Given the description of an element on the screen output the (x, y) to click on. 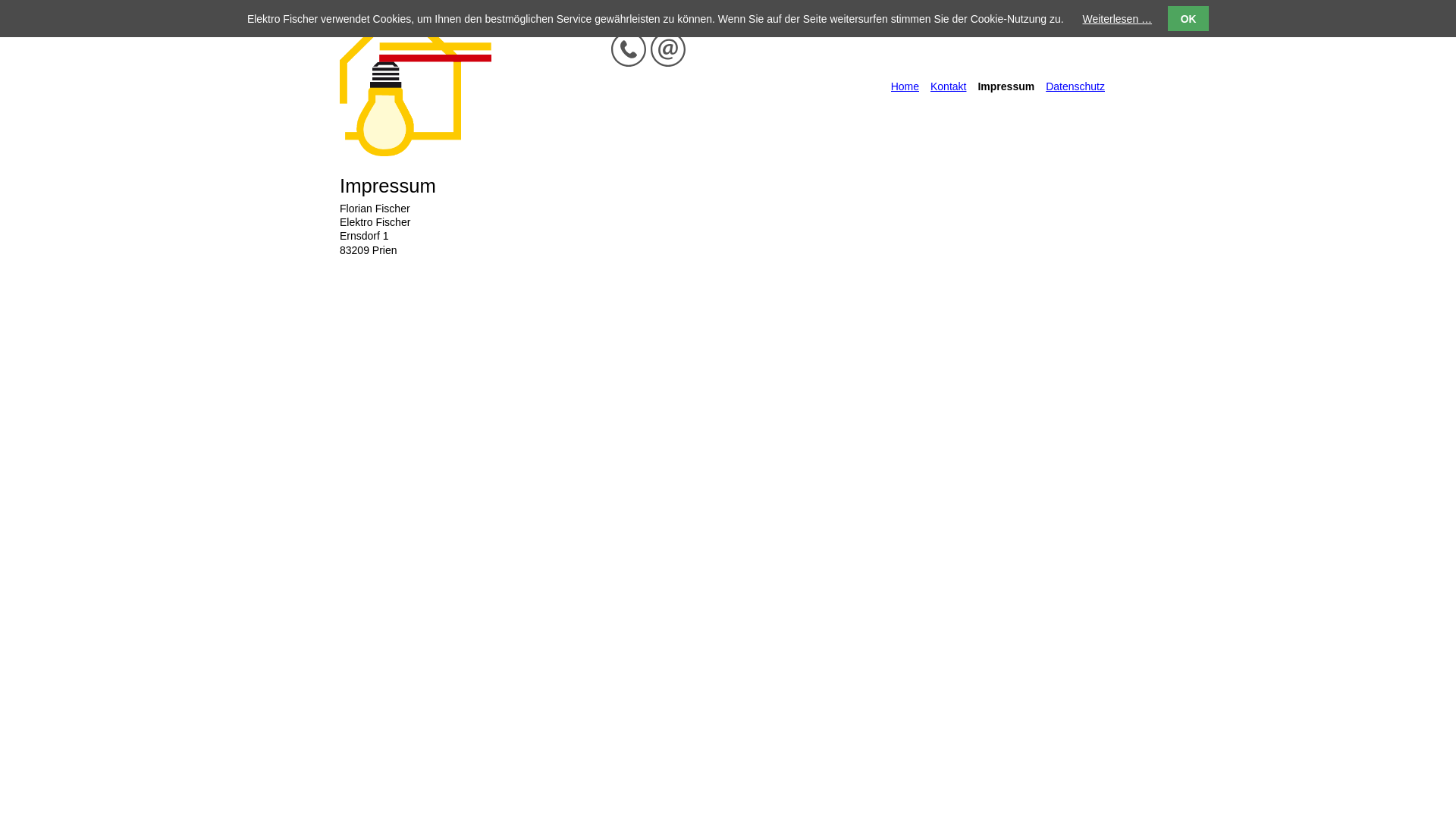
OK Element type: text (1187, 18)
Elektro Fischer Element type: hover (415, 152)
  Element type: text (1115, 87)
08051-9617458 Element type: text (628, 48)
Datenschutz Element type: text (1074, 86)
Kontakt Element type: text (948, 86)
info@elektro-fischer.bayern Element type: text (667, 48)
Home Element type: text (905, 86)
